Given the description of an element on the screen output the (x, y) to click on. 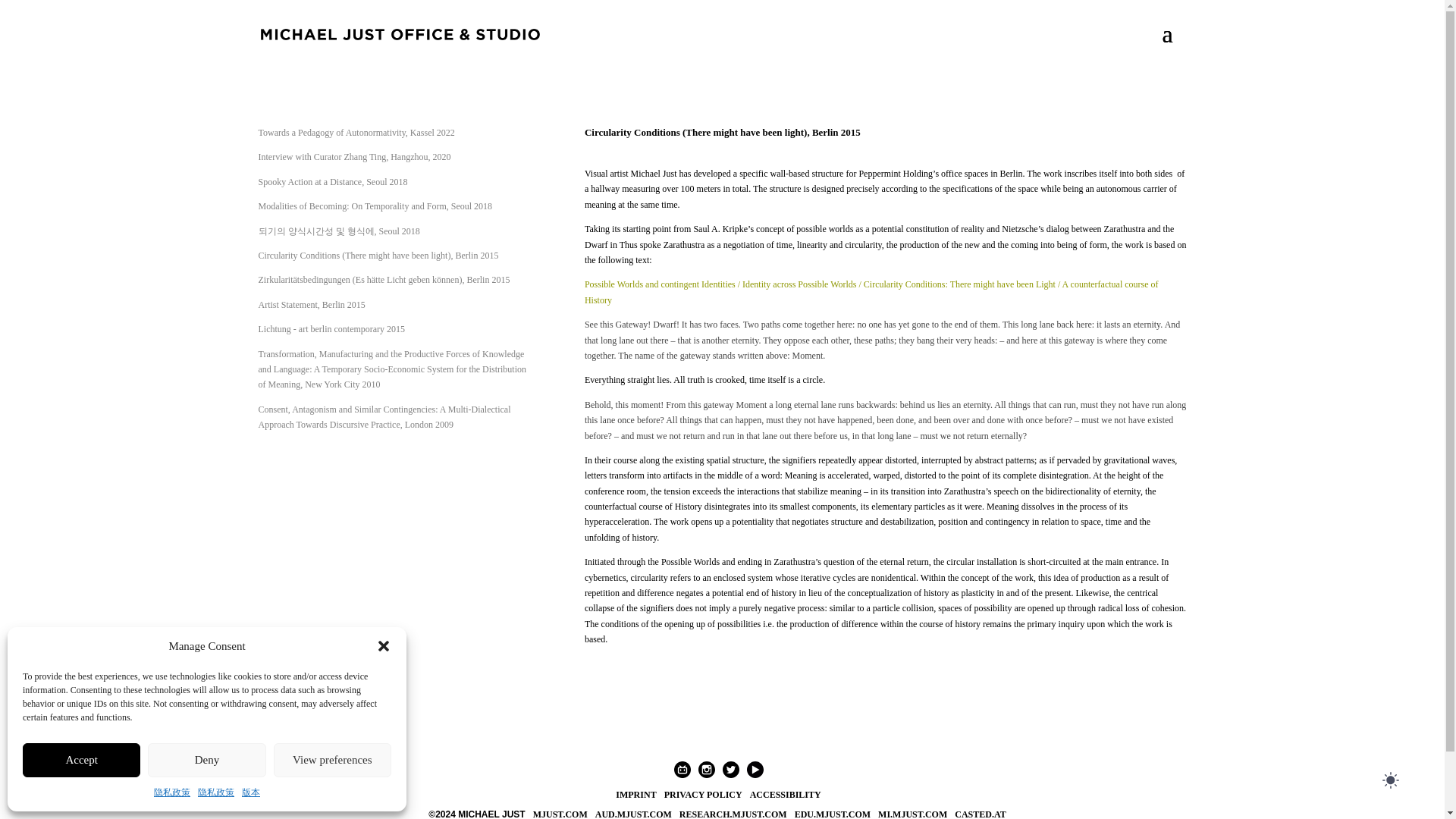
Interview with Curator Zhang Ting, Hangzhou, 2020 (353, 156)
Spooky Action at a Distance, Seoul 2018 (332, 181)
Deny (206, 759)
Accept (81, 759)
Towards a Pedagogy of Autonormativity, Kassel 2022 (355, 132)
View preferences (332, 759)
